Given the description of an element on the screen output the (x, y) to click on. 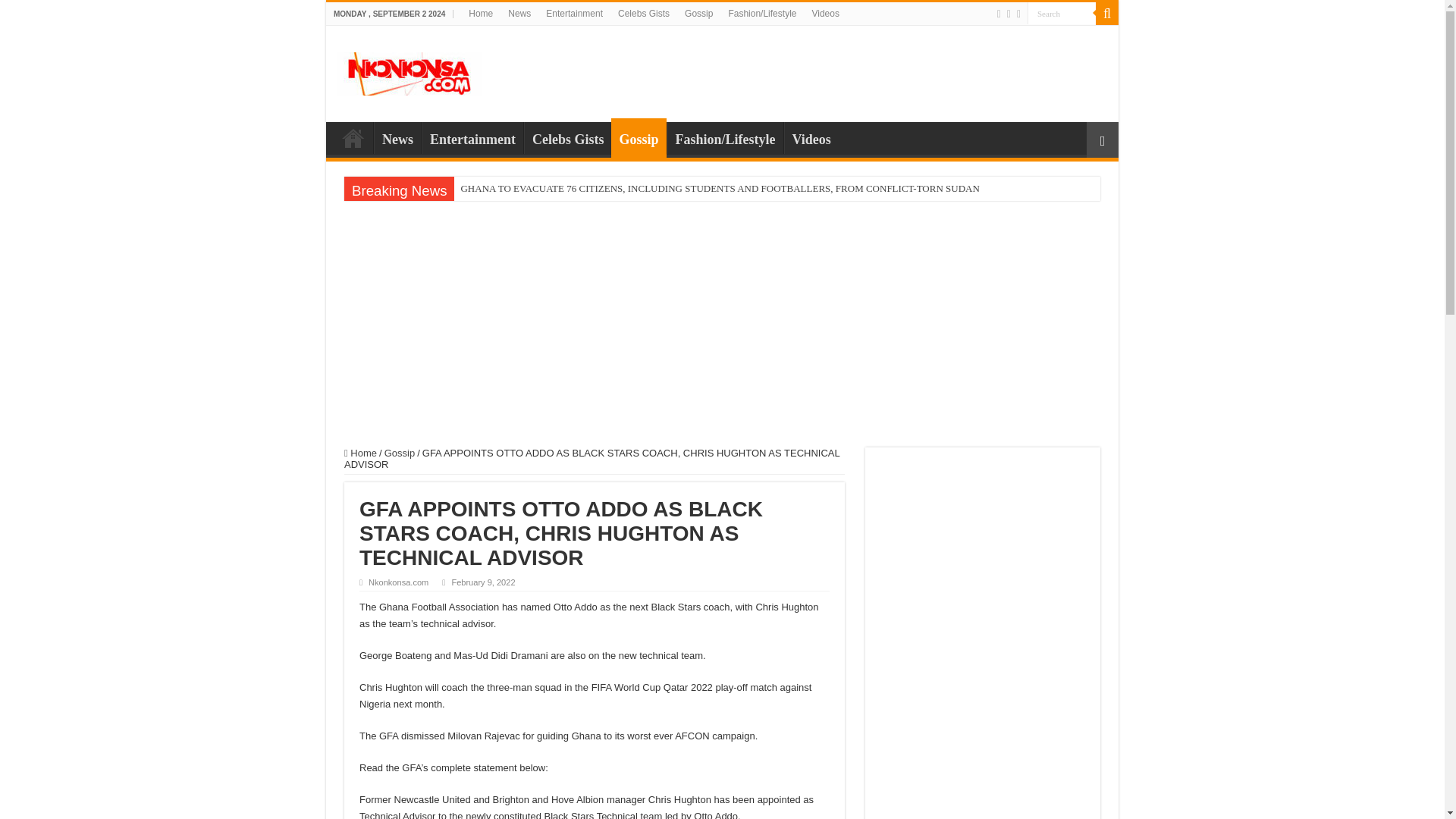
Search (1061, 13)
Videos (824, 13)
Entertainment (472, 137)
Gossip (698, 13)
Entertainment (574, 13)
News (397, 137)
Nkonkonsa (409, 71)
Celebs Gists (643, 13)
Search (1061, 13)
